Given the description of an element on the screen output the (x, y) to click on. 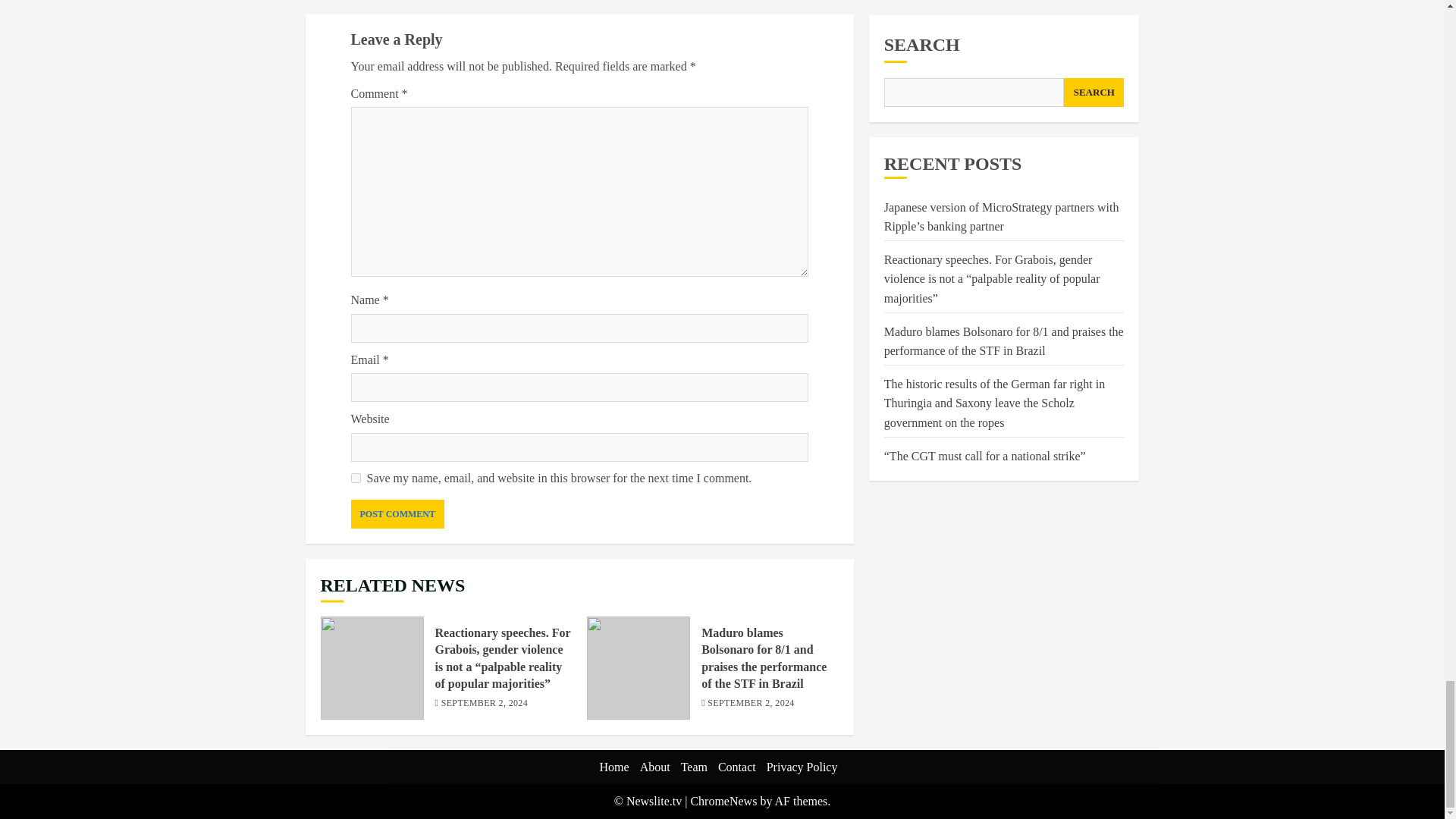
Post Comment (397, 513)
yes (354, 478)
Privacy Policy (802, 766)
Post Comment (397, 513)
Contact (736, 766)
SEPTEMBER 2, 2024 (484, 703)
SEPTEMBER 2, 2024 (750, 703)
About (654, 766)
Team (694, 766)
ChromeNews (723, 800)
